Given the description of an element on the screen output the (x, y) to click on. 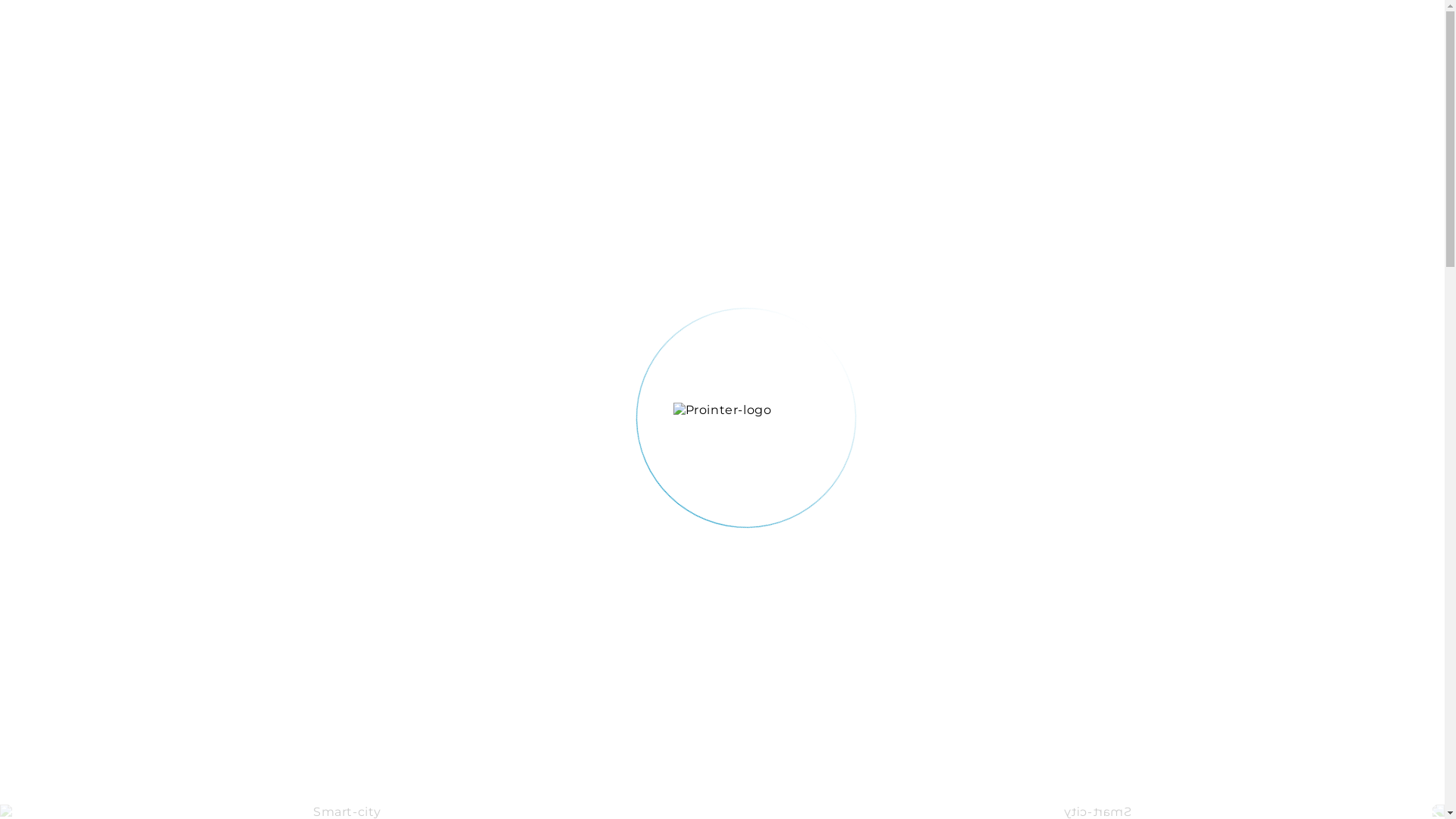
PARTNERS Element type: text (1064, 35)
PROJECTS Element type: text (969, 35)
EN Element type: text (1243, 35)
TOPICAL Element type: text (520, 35)
ABOUT US Element type: text (806, 35)
NEWS Element type: text (887, 35)
SOLUTIONS AND SERVICES Element type: text (660, 35)
CAREER Element type: text (1153, 35)
SR Element type: text (1217, 35)
